Given the description of an element on the screen output the (x, y) to click on. 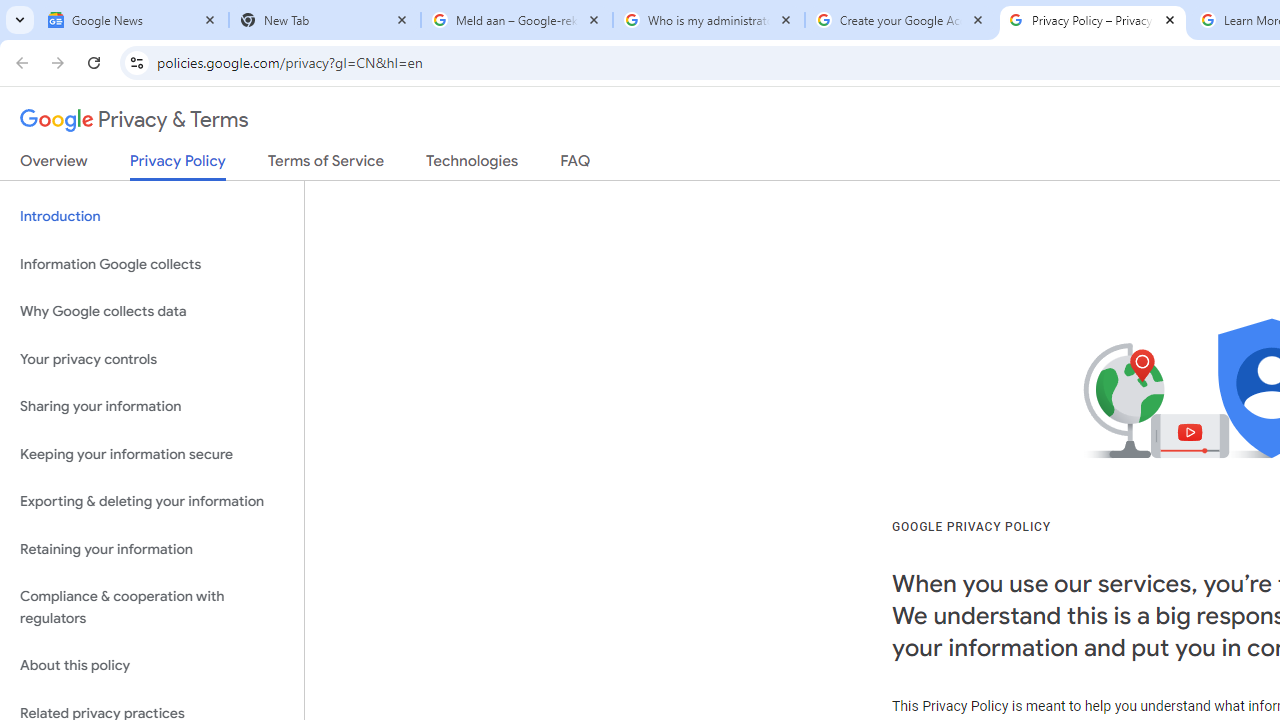
Who is my administrator? - Google Account Help (709, 20)
Google News (133, 20)
Your privacy controls (152, 358)
About this policy (152, 666)
Exporting & deleting your information (152, 502)
Keeping your information secure (152, 453)
Why Google collects data (152, 312)
